Given the description of an element on the screen output the (x, y) to click on. 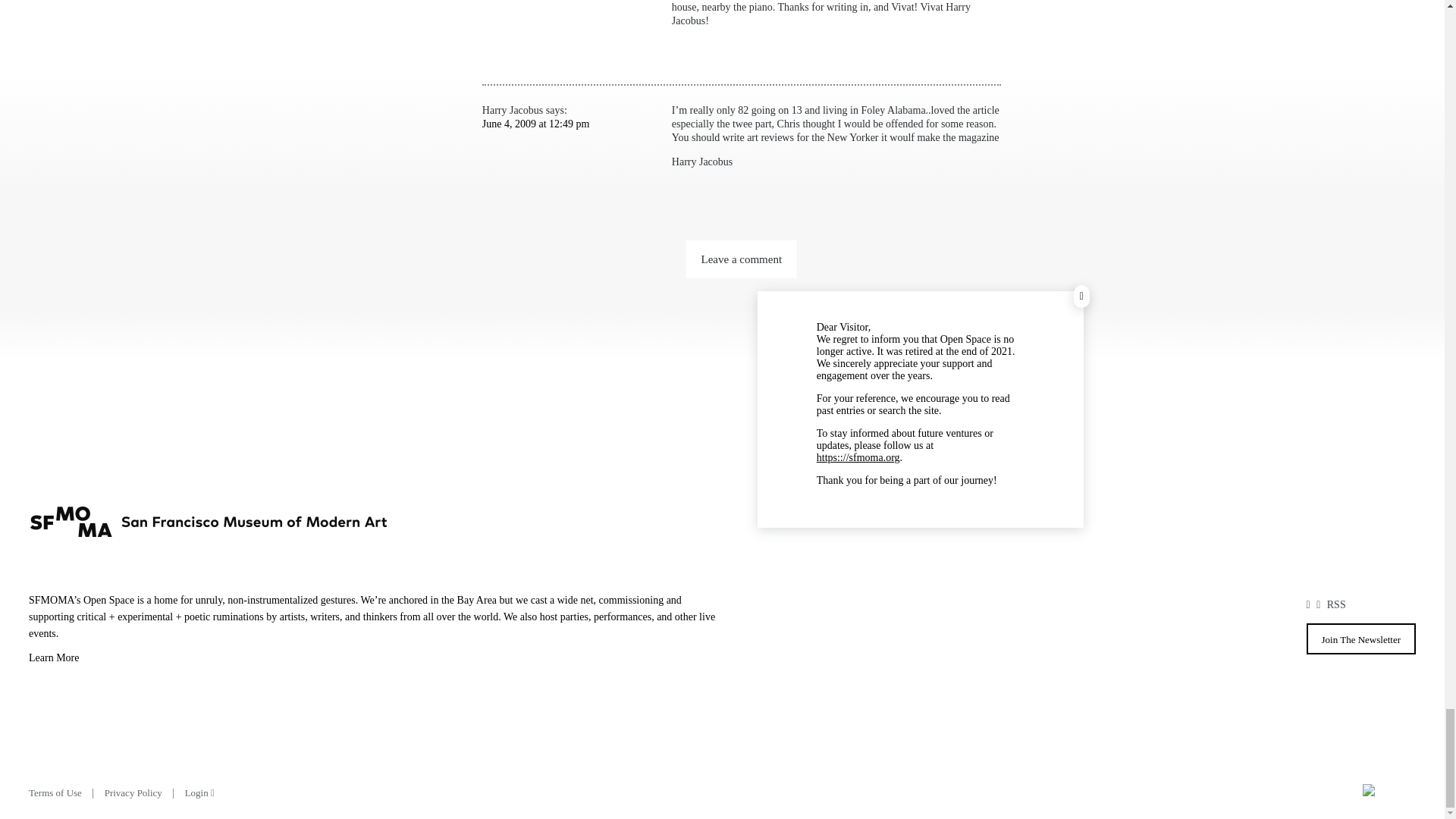
Join The Newsletter (1360, 638)
Privacy Policy (132, 792)
June 4, 2009 at 12:49 pm (535, 123)
Terms of Use (55, 792)
RSS (1335, 604)
Learn More (375, 660)
